Given the description of an element on the screen output the (x, y) to click on. 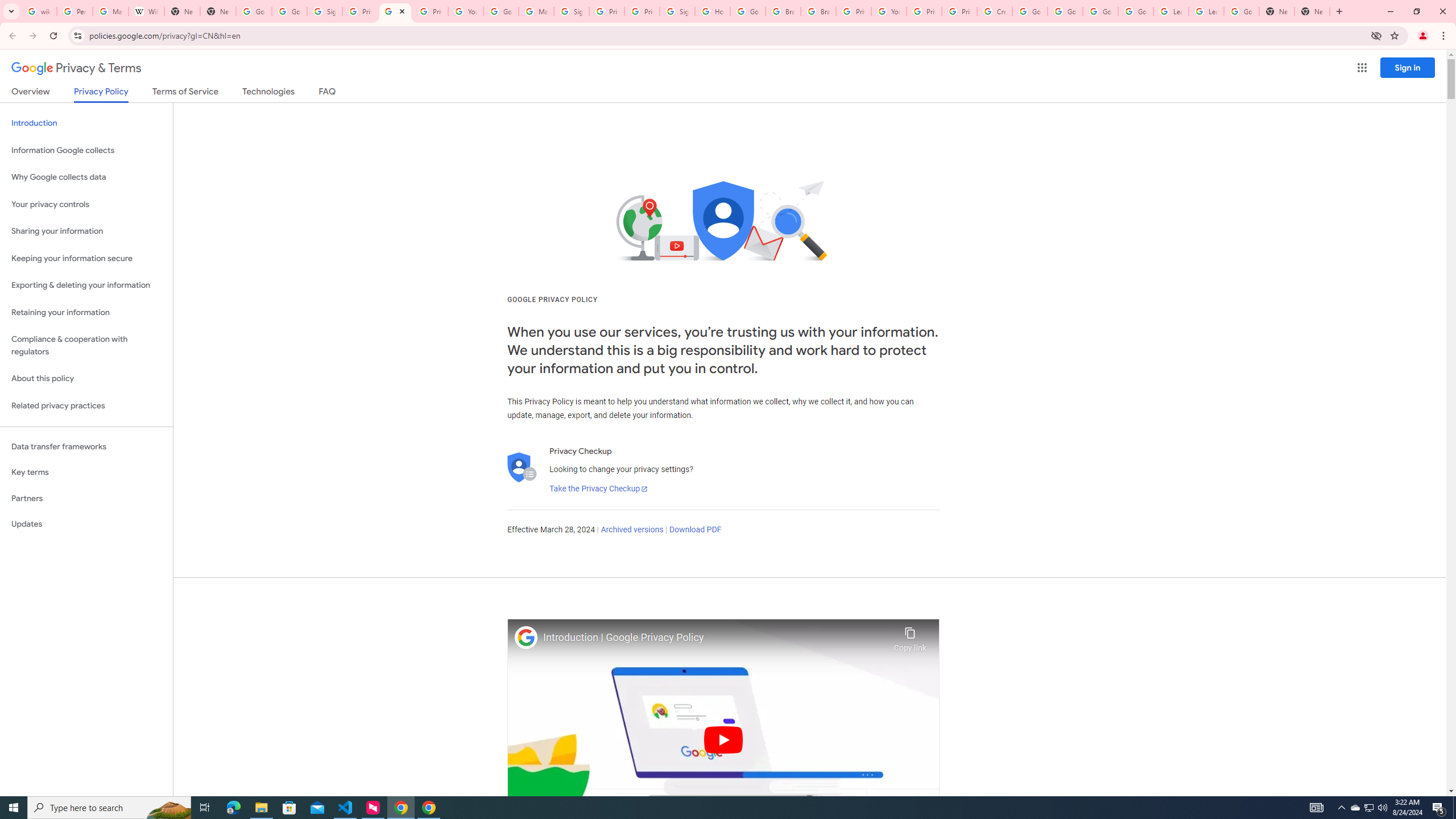
New Tab (1312, 11)
New Tab (1276, 11)
Create your Google Account (994, 11)
Sign in - Google Accounts (571, 11)
Manage your Location History - Google Search Help (110, 11)
Google Account Help (1099, 11)
